Given the description of an element on the screen output the (x, y) to click on. 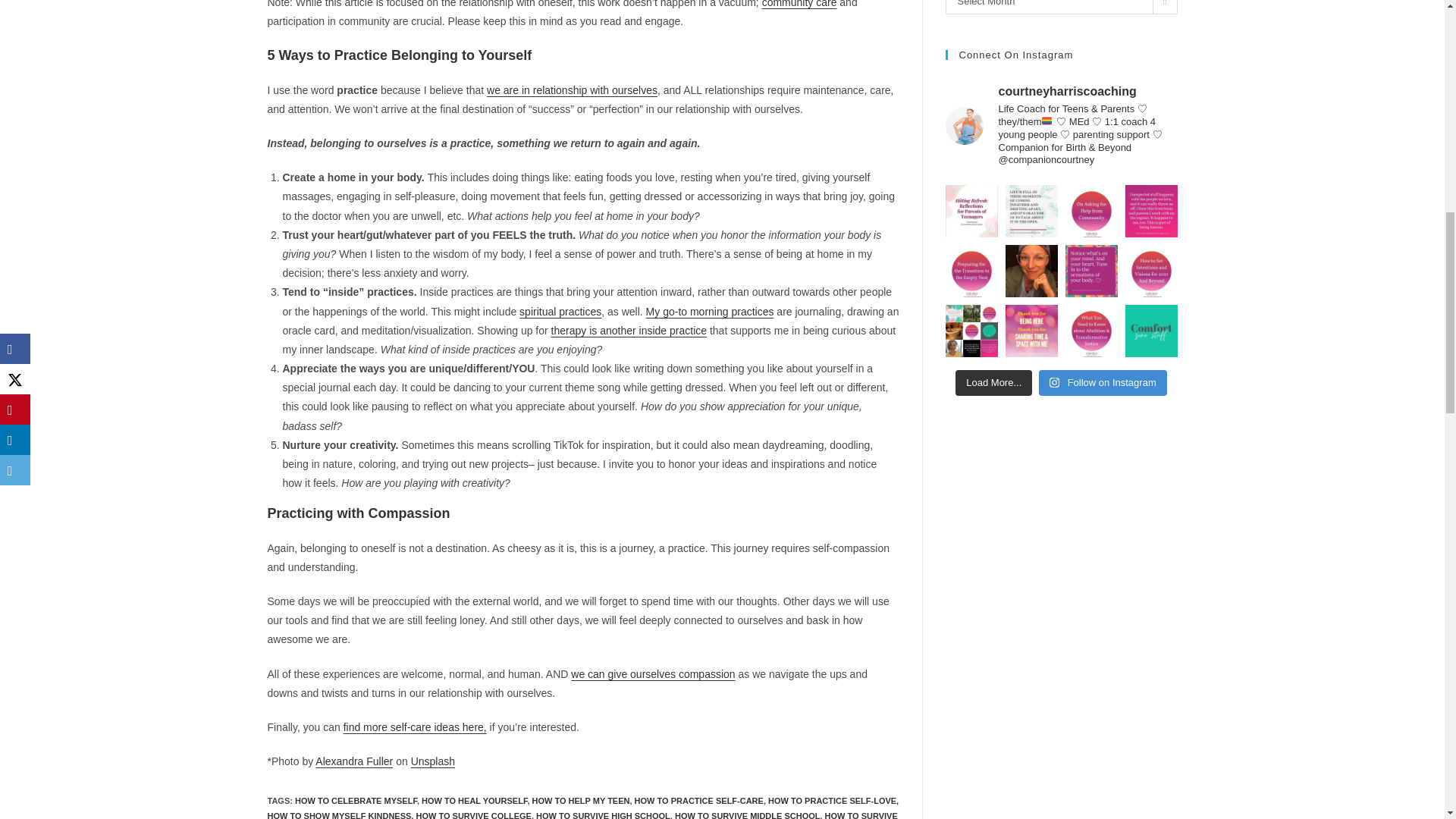
we are in relationship with ourselves (572, 90)
spiritual practices (560, 310)
community care (799, 4)
